Given the description of an element on the screen output the (x, y) to click on. 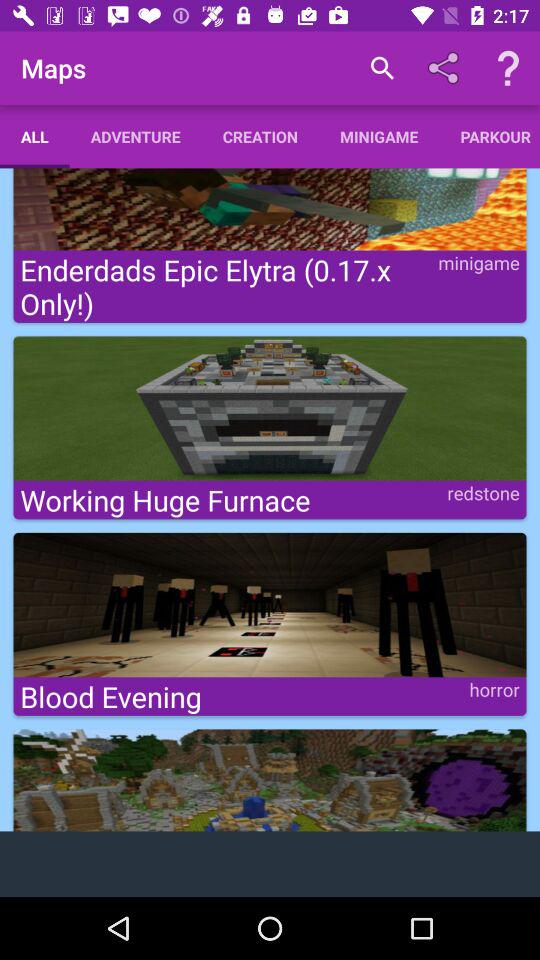
open item to the right of the creation app (381, 67)
